Given the description of an element on the screen output the (x, y) to click on. 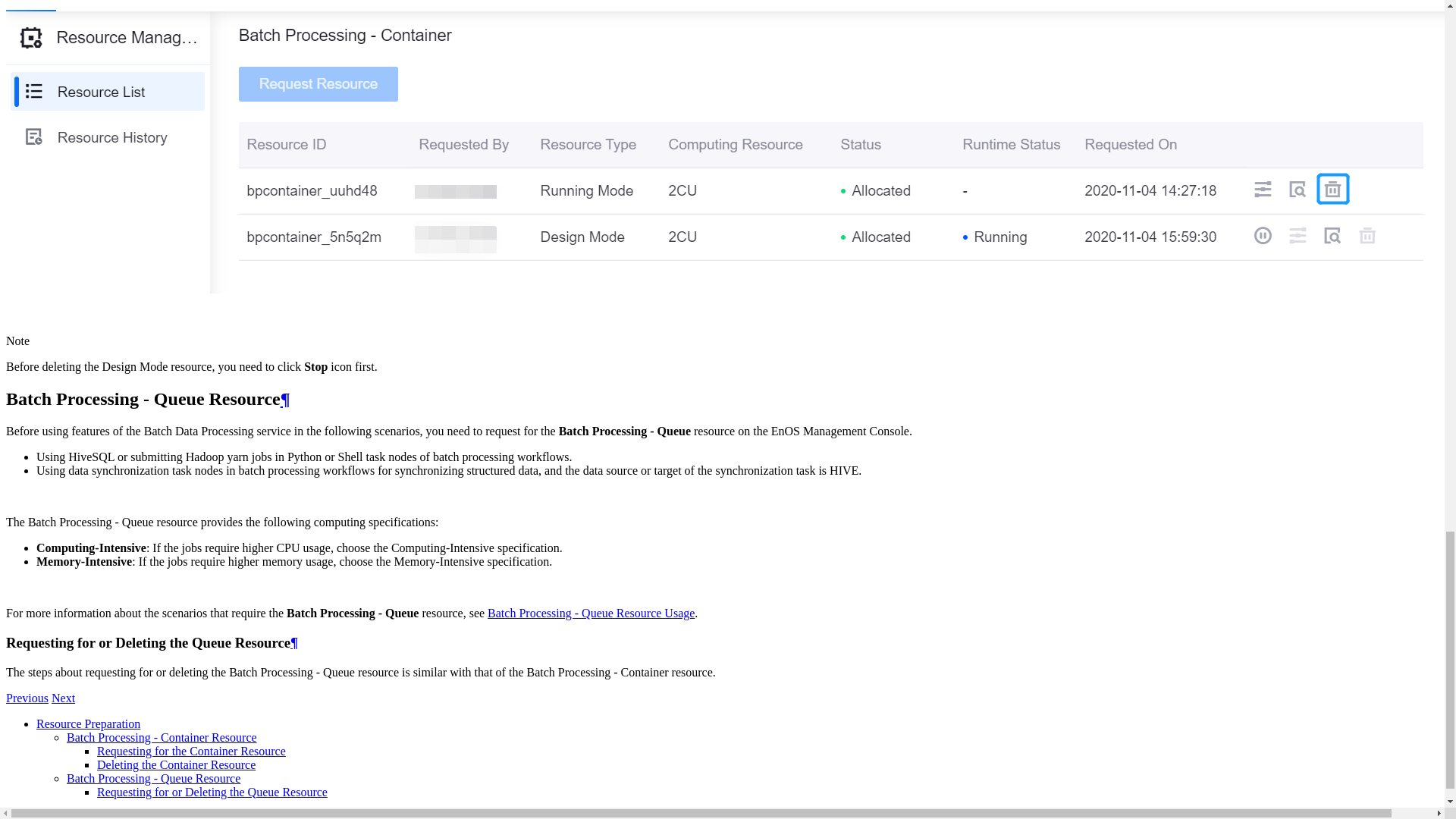
Requesting for or Deleting the Queue Resource (212, 791)
Deleting the Container Resource (176, 764)
Batch Processing - Queue Resource Usage (590, 612)
Previous (26, 697)
Script Development (62, 697)
Next (62, 697)
Batch Data Processing Overview (26, 697)
Resource Preparation (87, 723)
Requesting for the Container Resource (191, 750)
Batch Processing - Queue Resource (153, 778)
